Given the description of an element on the screen output the (x, y) to click on. 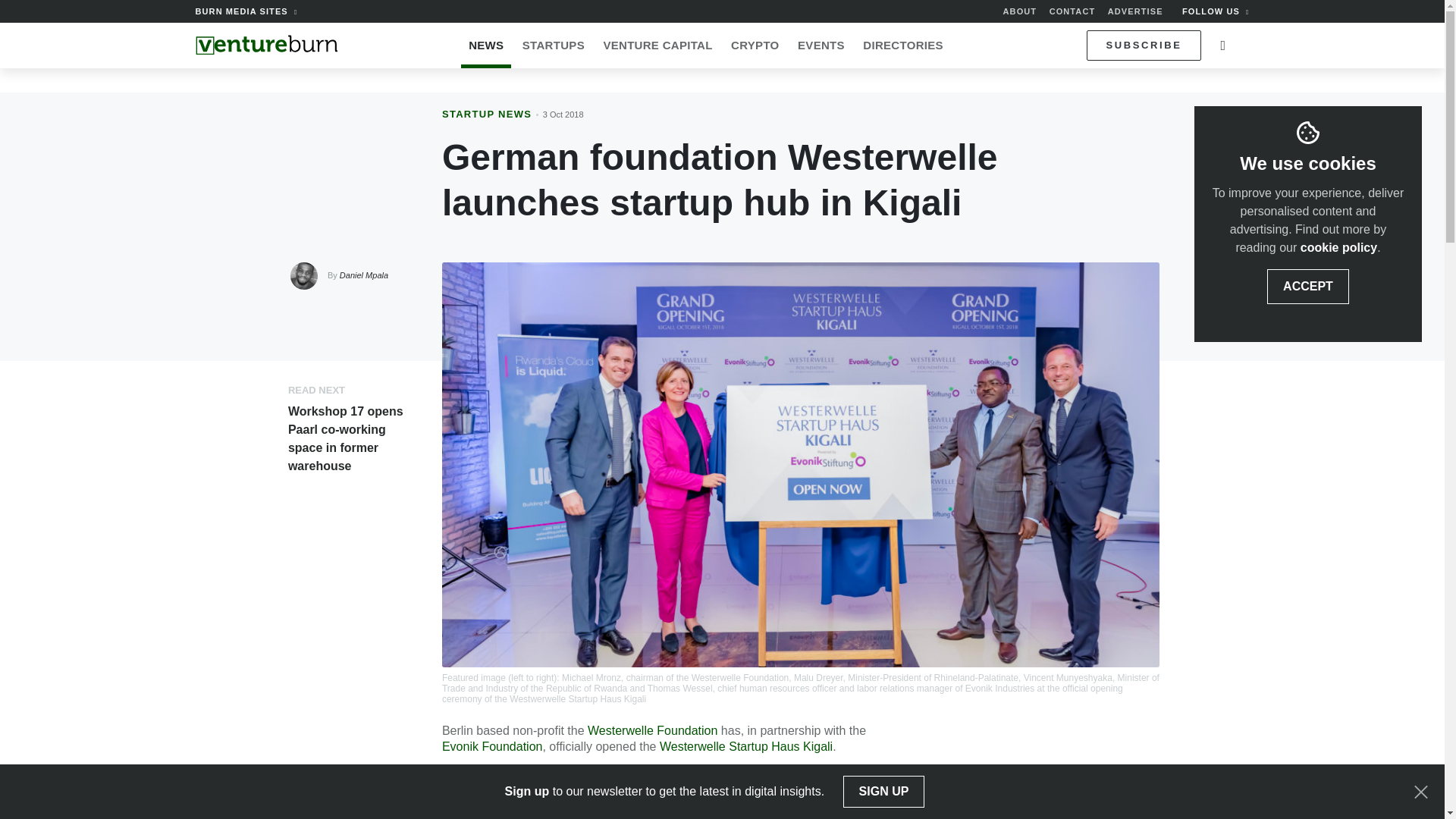
BURN MEDIA SITES (246, 10)
FOLLOW US (1215, 10)
CONTACT (1072, 10)
ABOUT (1019, 10)
ADVERTISE (1135, 10)
